Given the description of an element on the screen output the (x, y) to click on. 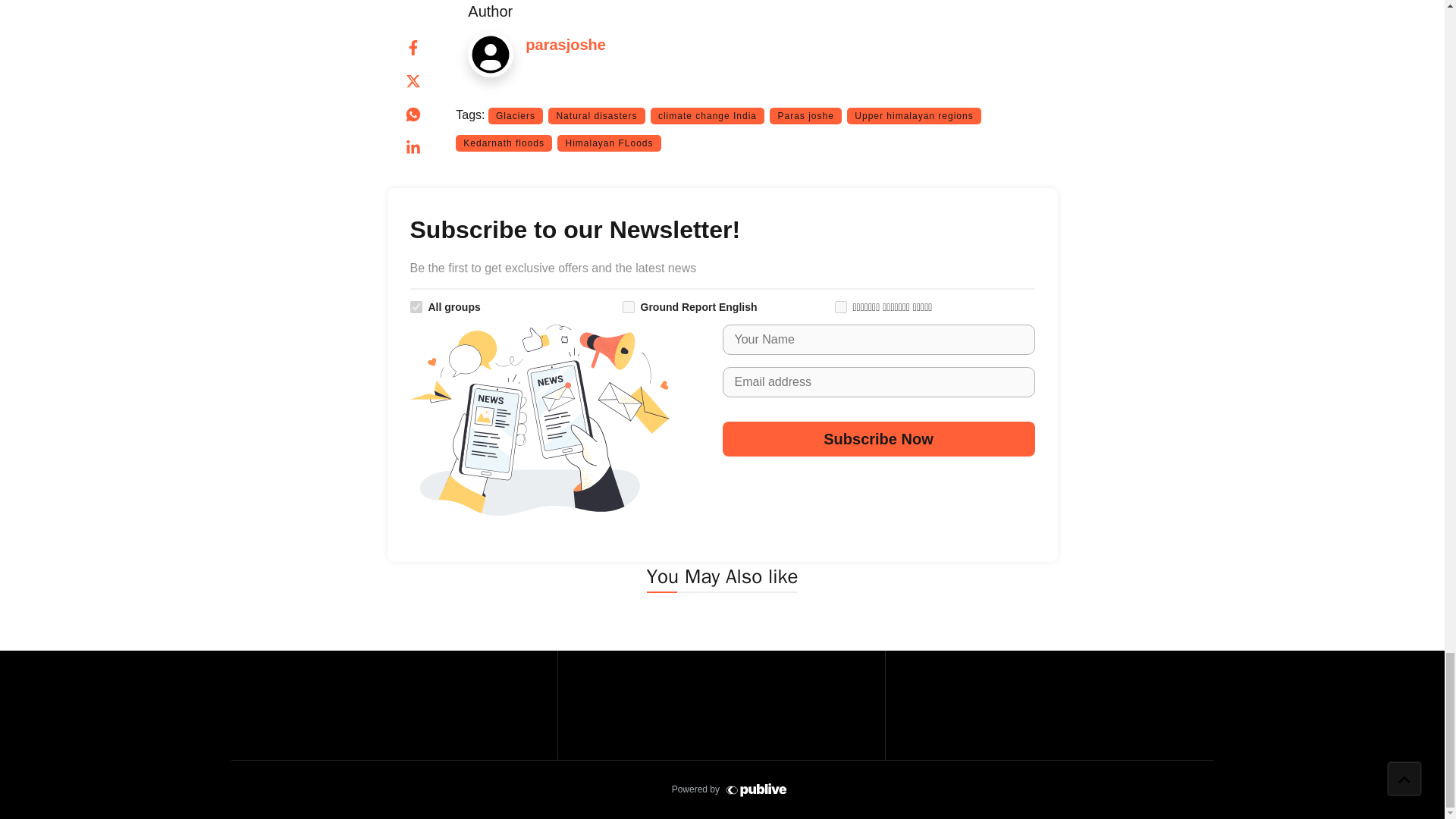
200 (839, 306)
199 (627, 306)
